Given the description of an element on the screen output the (x, y) to click on. 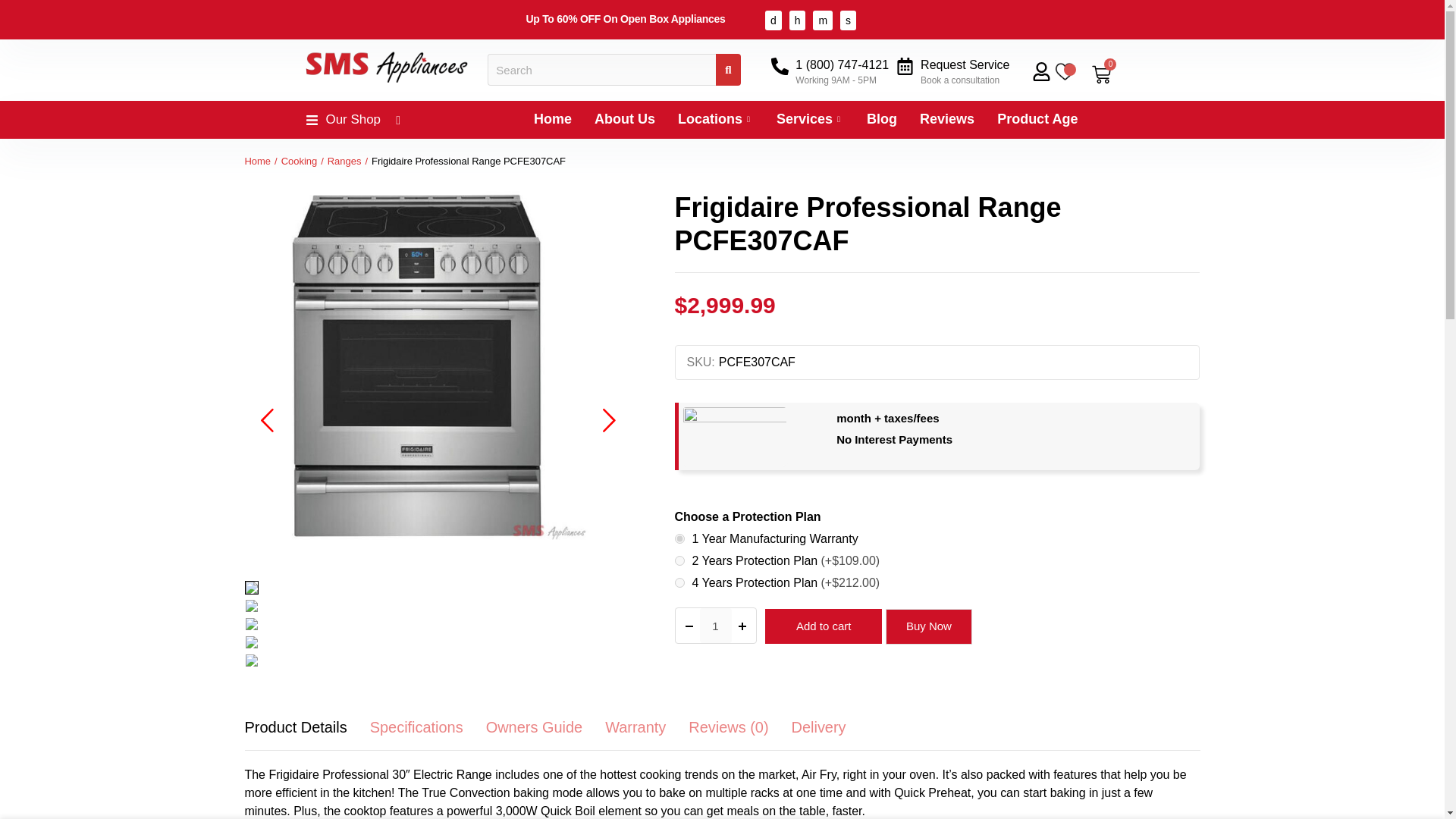
n1ub2 (679, 538)
Qty (714, 625)
1 (714, 625)
Our Shop (352, 119)
0 (1101, 73)
3164870932 - SMS Appliances (438, 380)
zh2be (679, 560)
n0fwr (679, 583)
Request Service (964, 64)
SMS-Appliances-logo-2024 - SMS Appliances (384, 63)
